Given the description of an element on the screen output the (x, y) to click on. 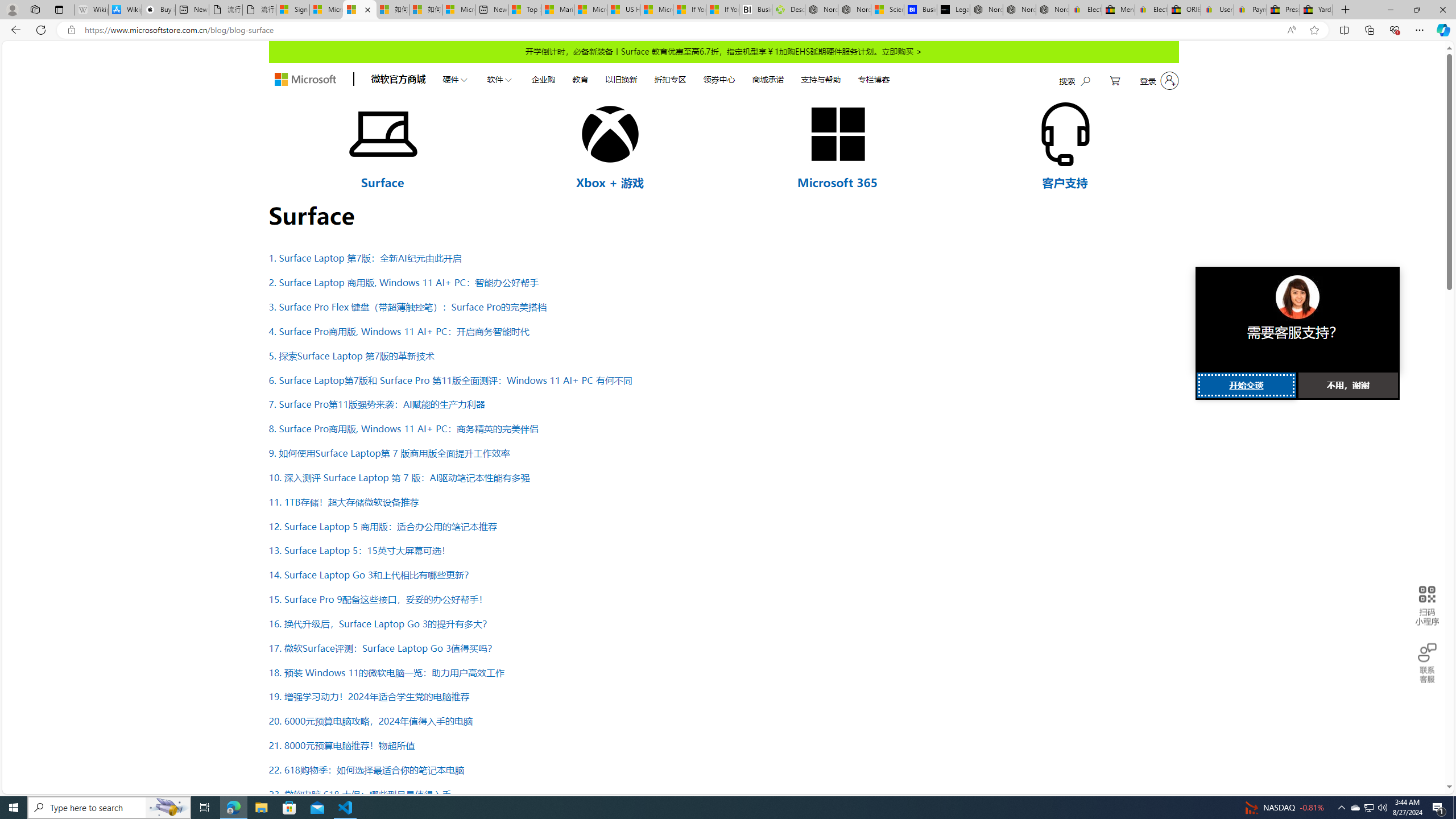
Nordace - Summer Adventures 2024 (821, 9)
Payments Terms of Use | eBay.com (1249, 9)
Microsoft (304, 79)
User Privacy Notice | eBay (1217, 9)
